Given the description of an element on the screen output the (x, y) to click on. 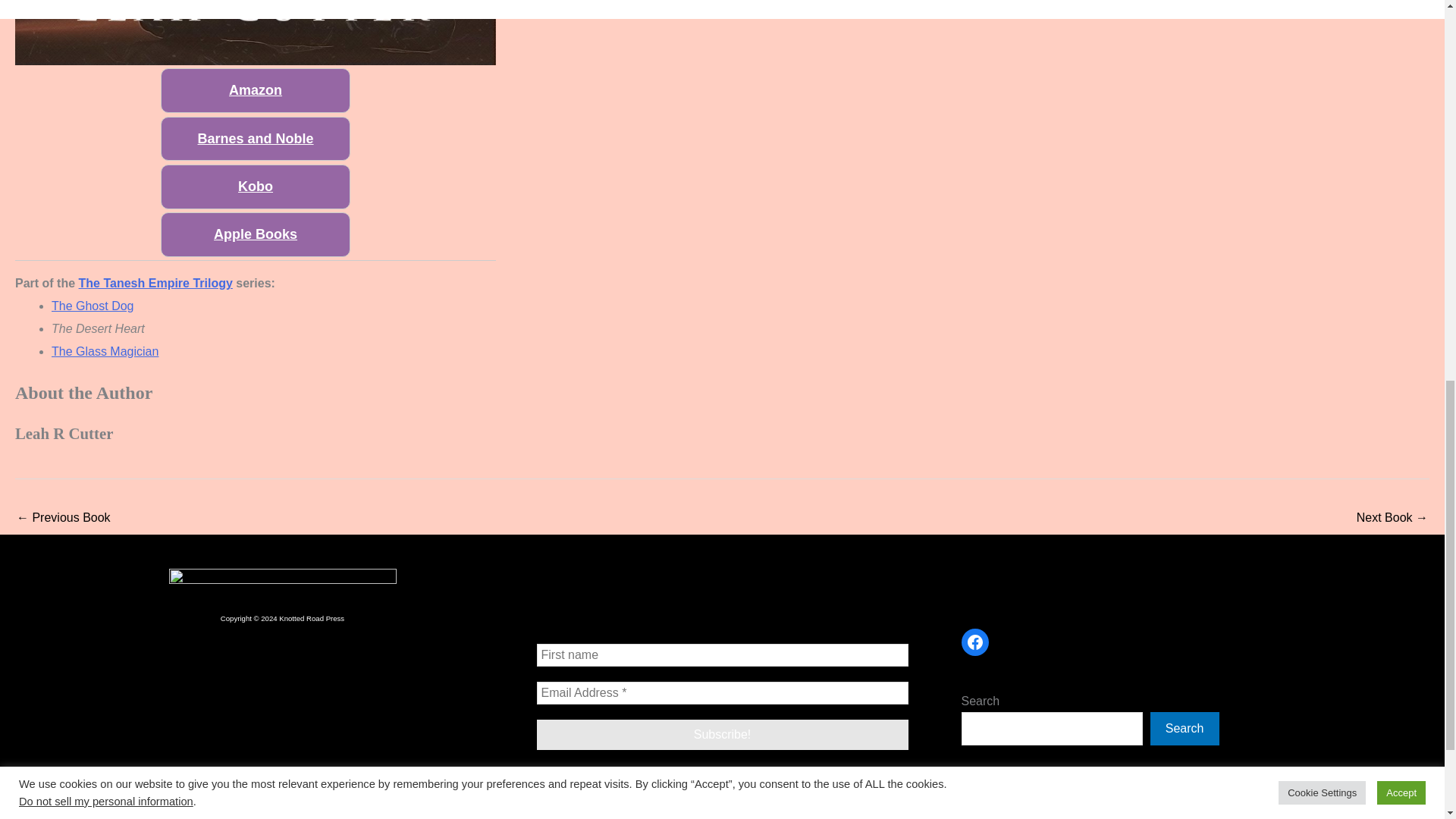
First name (722, 654)
Rocketman (63, 519)
The Ghost Dog (1392, 519)
Subscribe! (722, 734)
Email Address (722, 692)
